Given the description of an element on the screen output the (x, y) to click on. 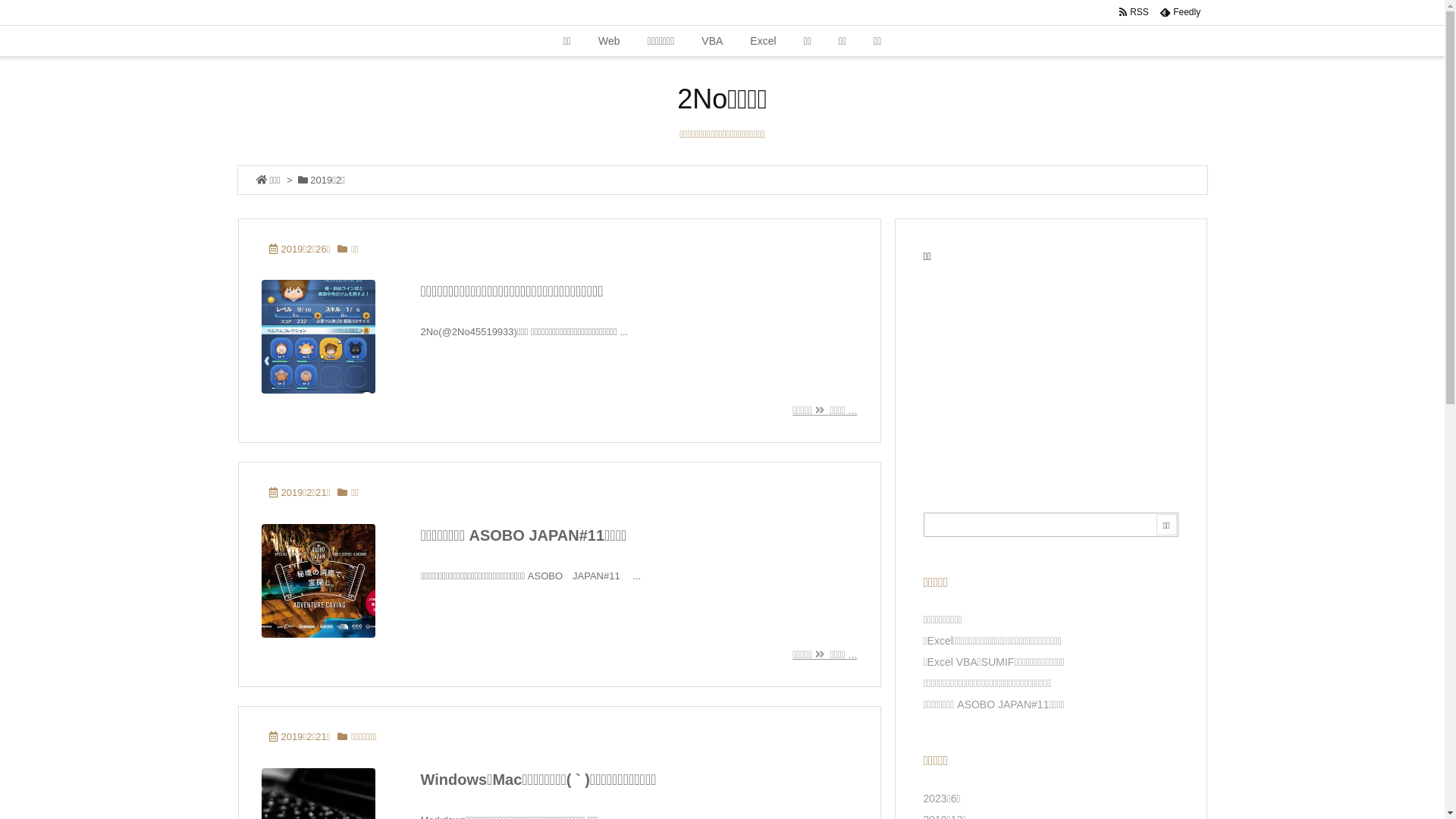
  Feedly  Element type: text (1179, 11)
VBA Element type: text (711, 40)
  RSS  Element type: text (1133, 11)
Web Element type: text (608, 40)
Excel Element type: text (762, 40)
Advertisement Element type: hover (1050, 372)
